Given the description of an element on the screen output the (x, y) to click on. 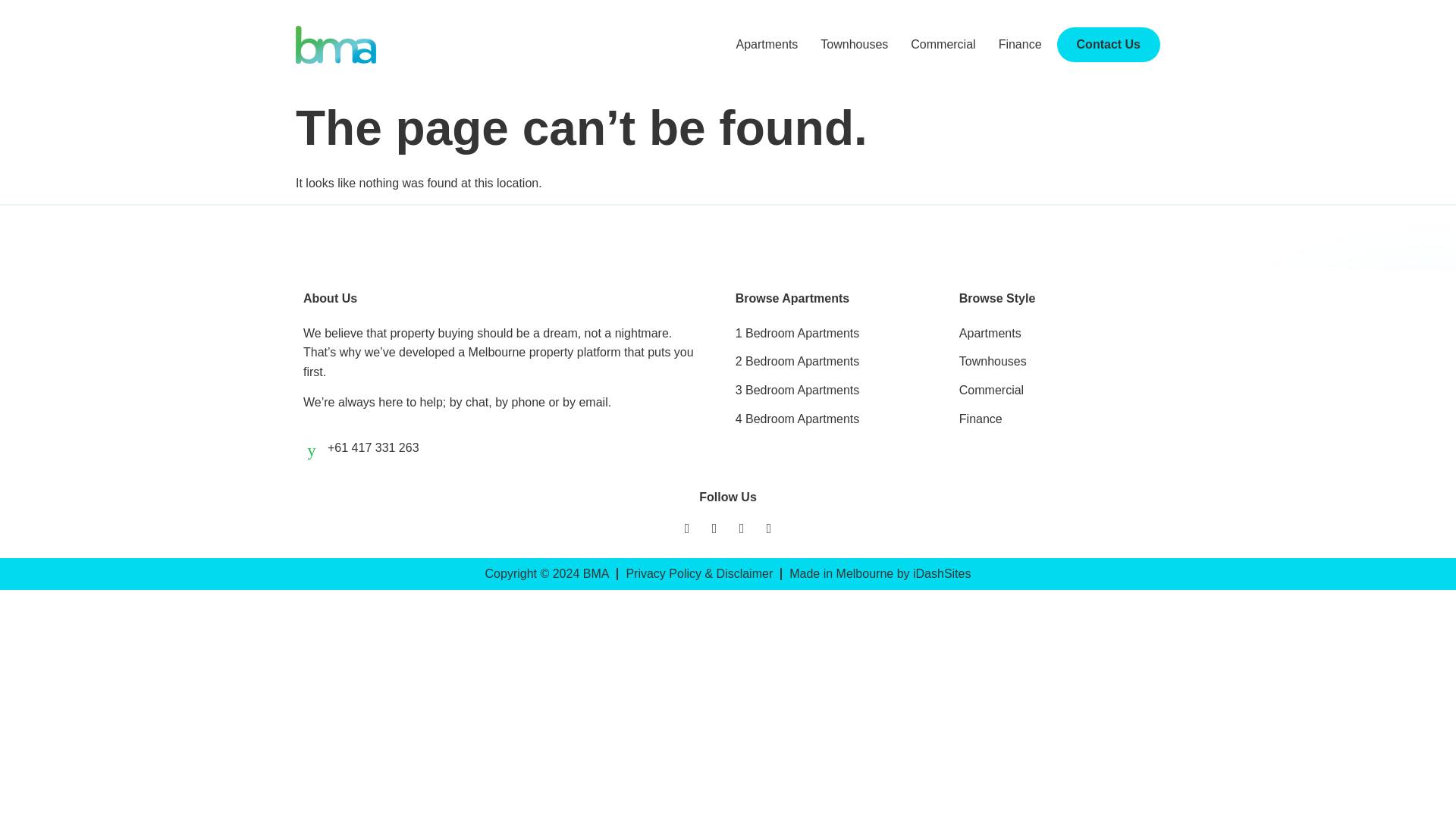
Apartments (766, 44)
Commercial (943, 44)
2 Bedroom Apartments (831, 361)
Finance (1056, 419)
Townhouses (854, 44)
Contact Us (1108, 44)
4 Bedroom Apartments (831, 419)
1 Bedroom Apartments (831, 333)
Apartments (1056, 333)
iDashSites (941, 573)
Townhouses (1056, 361)
Commercial (1056, 390)
Finance (1020, 44)
3 Bedroom Apartments (831, 390)
